Given the description of an element on the screen output the (x, y) to click on. 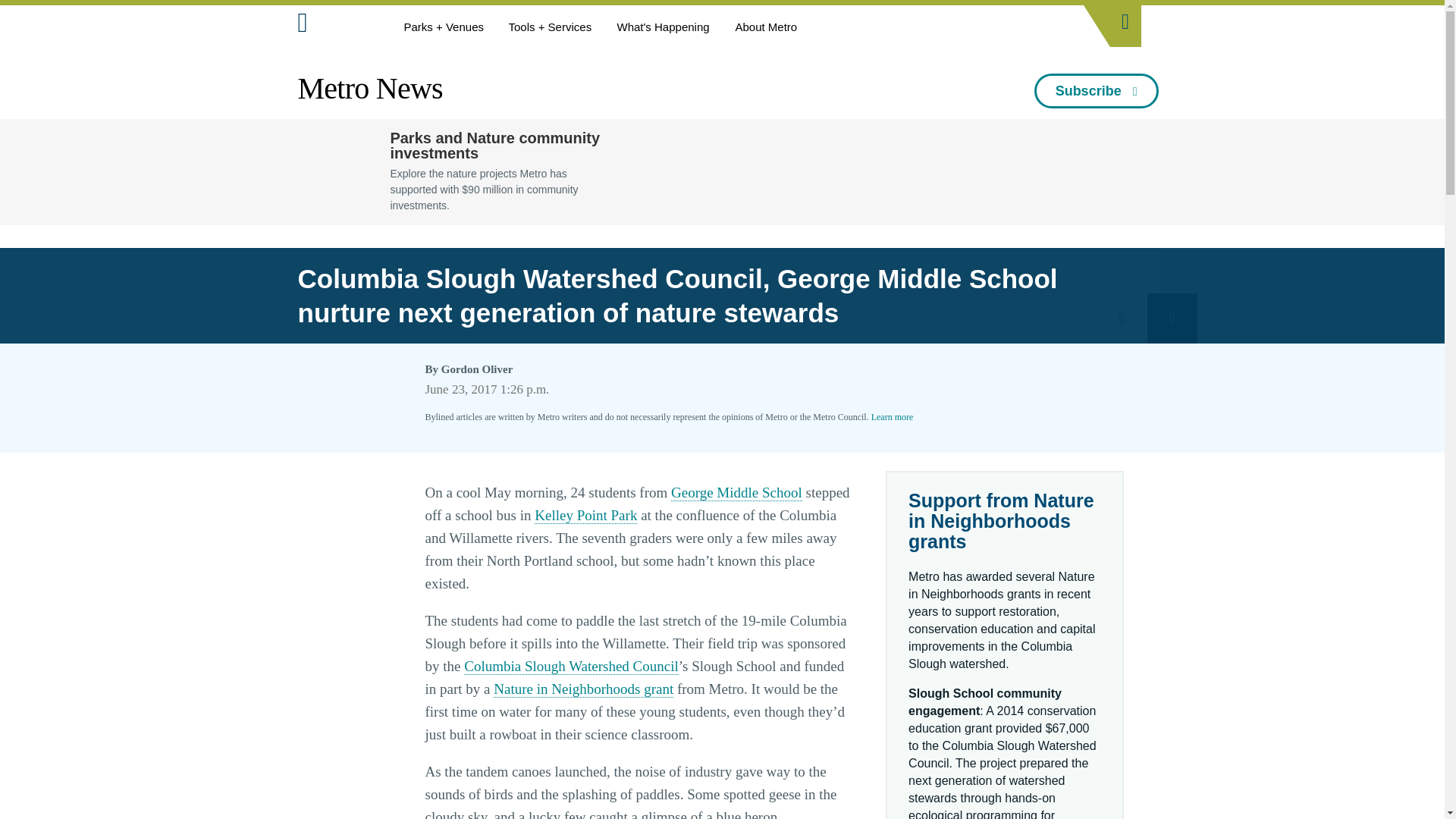
Metro (335, 25)
